Given the description of an element on the screen output the (x, y) to click on. 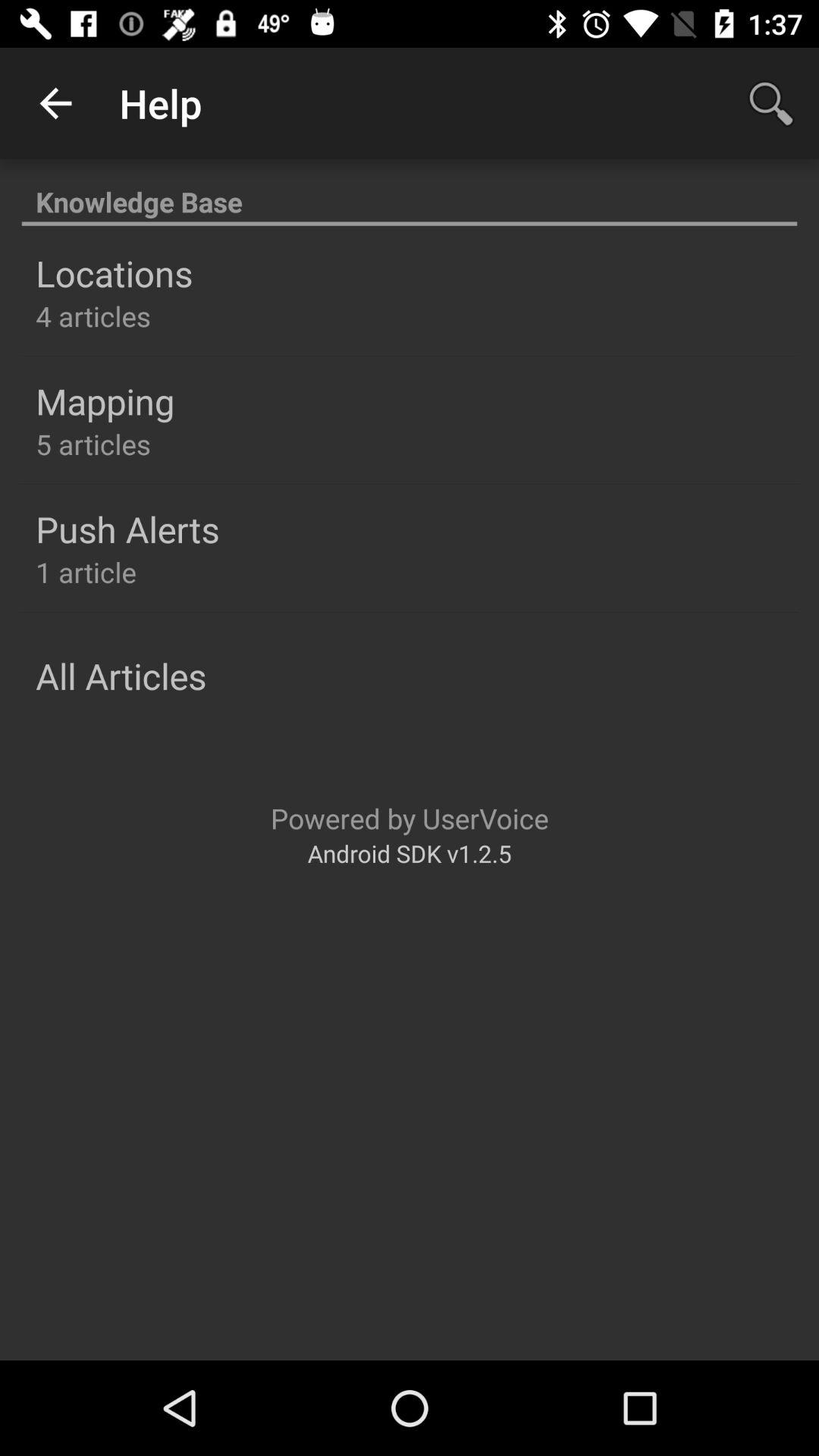
tap the item at the top right corner (771, 103)
